Given the description of an element on the screen output the (x, y) to click on. 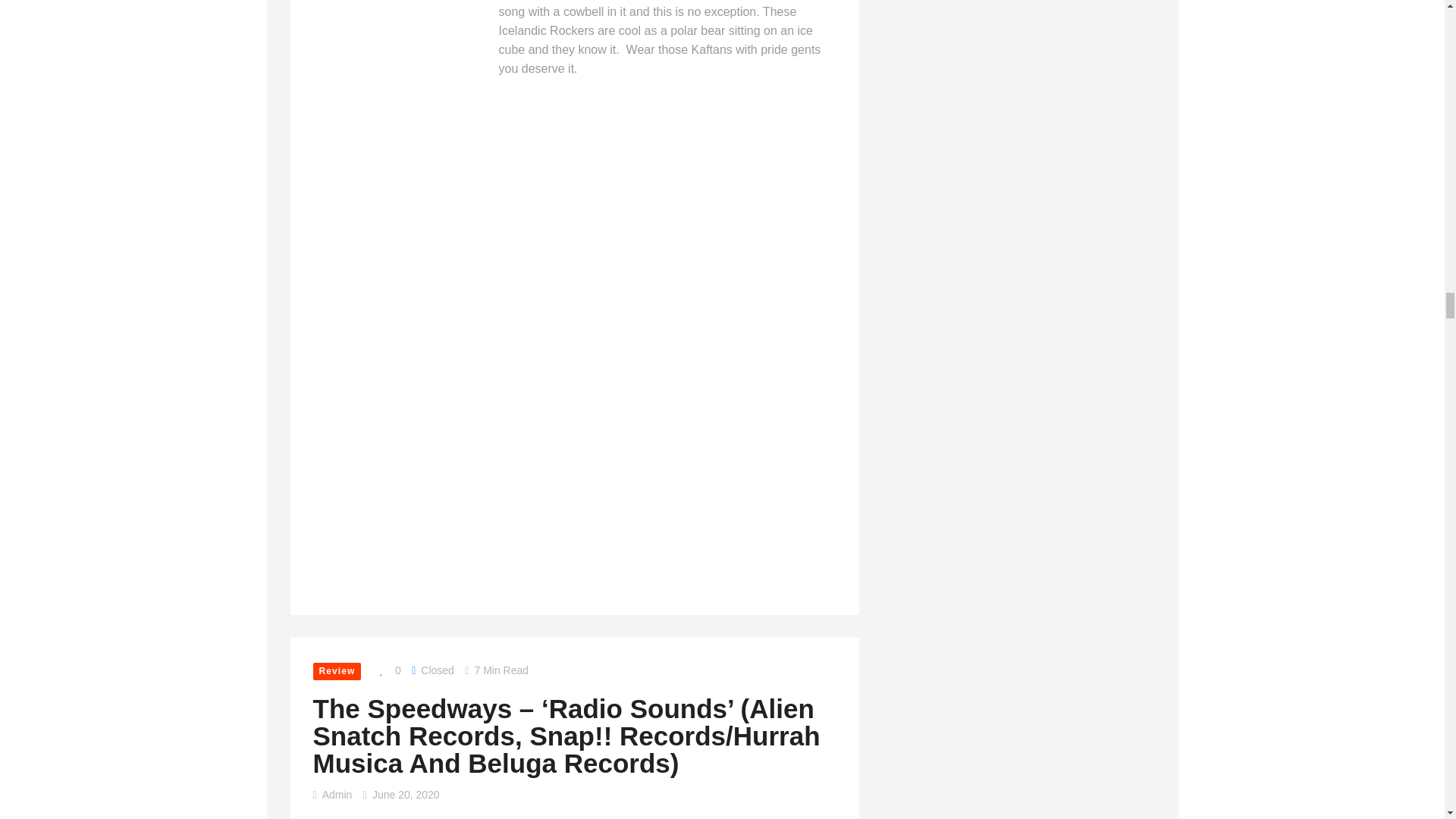
Like this (386, 670)
